Given the description of an element on the screen output the (x, y) to click on. 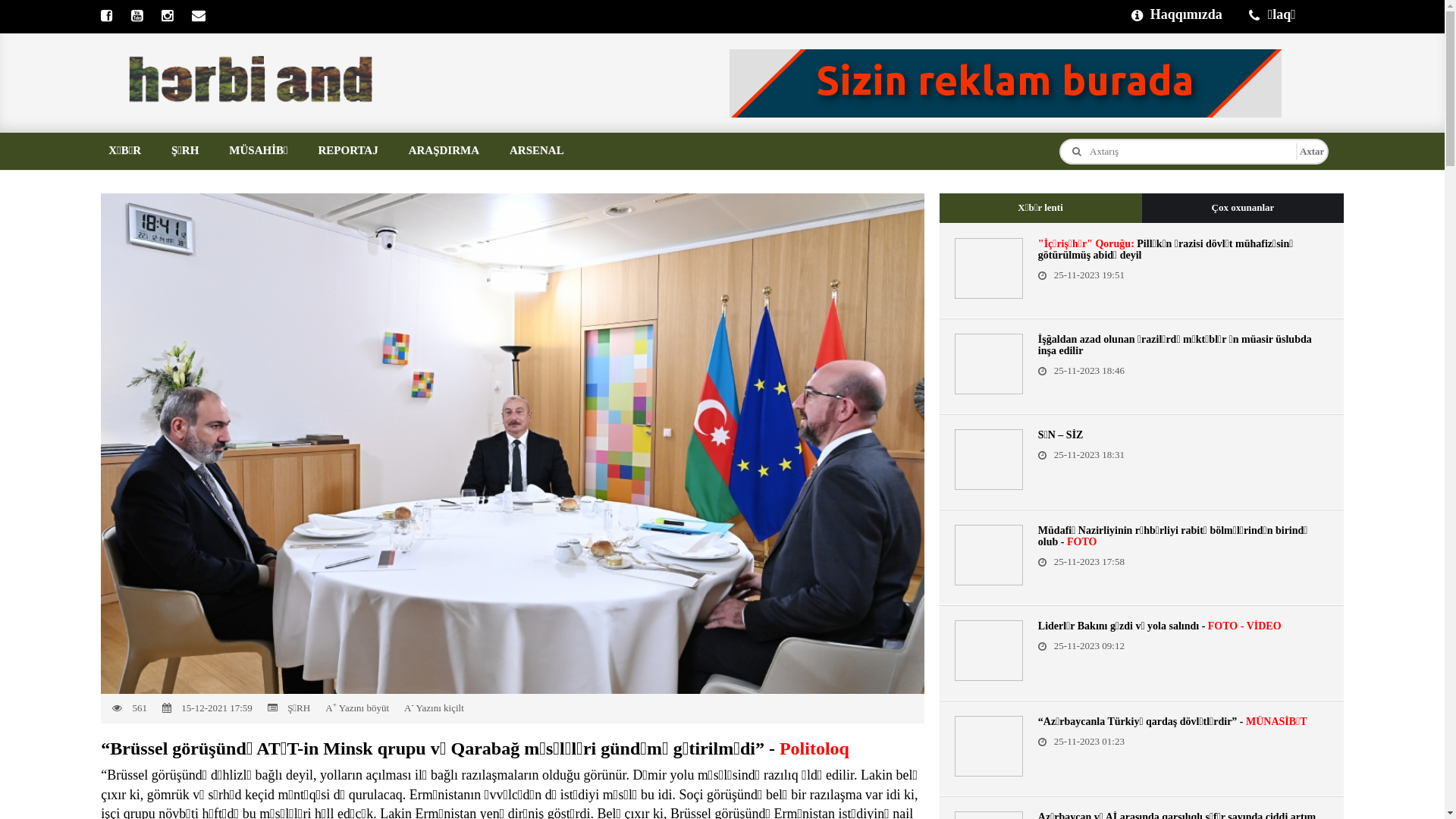
Axtar Element type: text (1311, 151)
ARSENAL Element type: text (536, 150)
REPORTAJ Element type: text (347, 150)
